Given the description of an element on the screen output the (x, y) to click on. 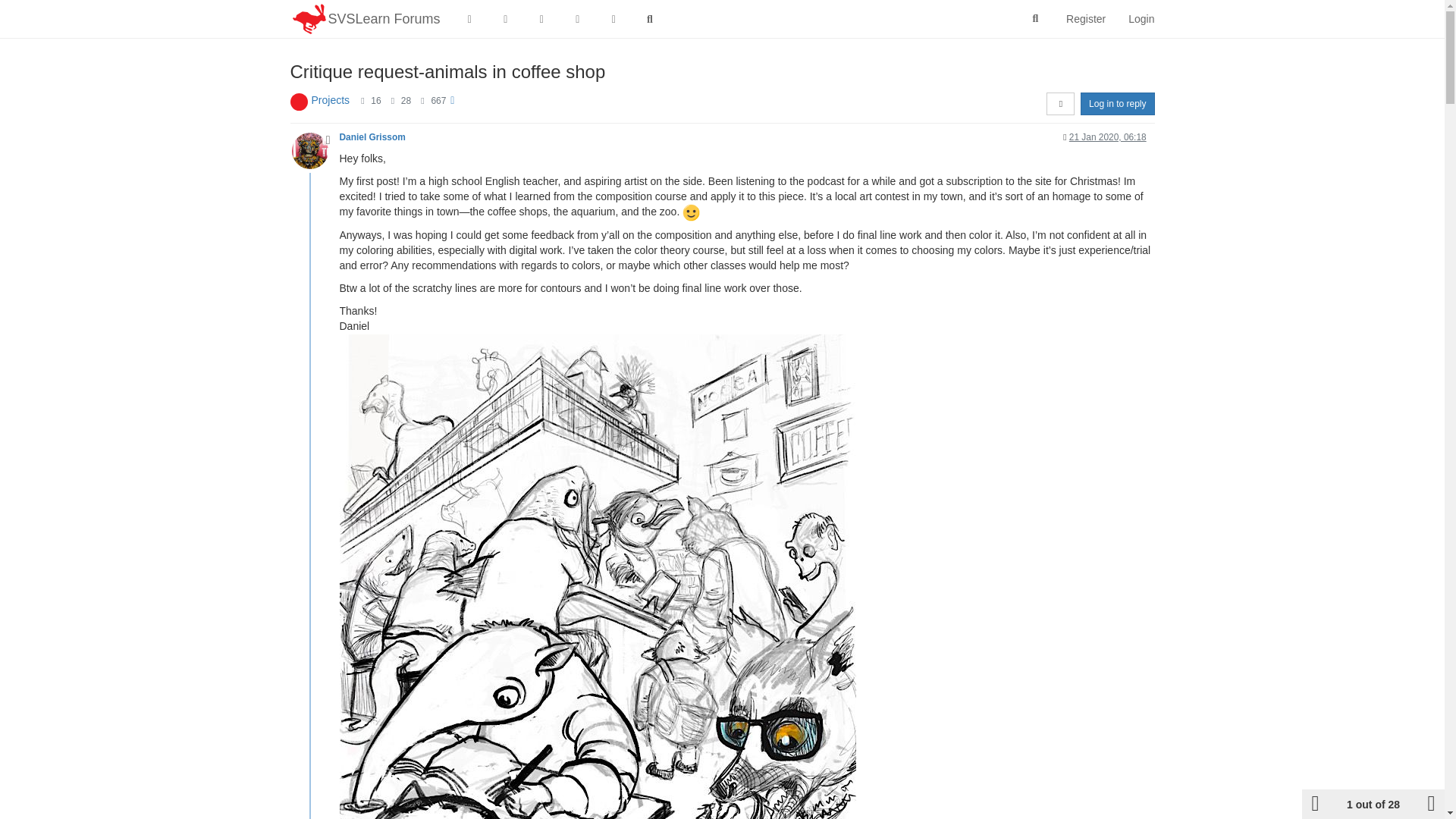
Search (1035, 18)
Daniel Grissom (372, 136)
21 Jan 2020, 06:18 (1107, 136)
Register (1085, 18)
Login (1141, 18)
Projects (330, 100)
Log in to reply (1117, 103)
